Given the description of an element on the screen output the (x, y) to click on. 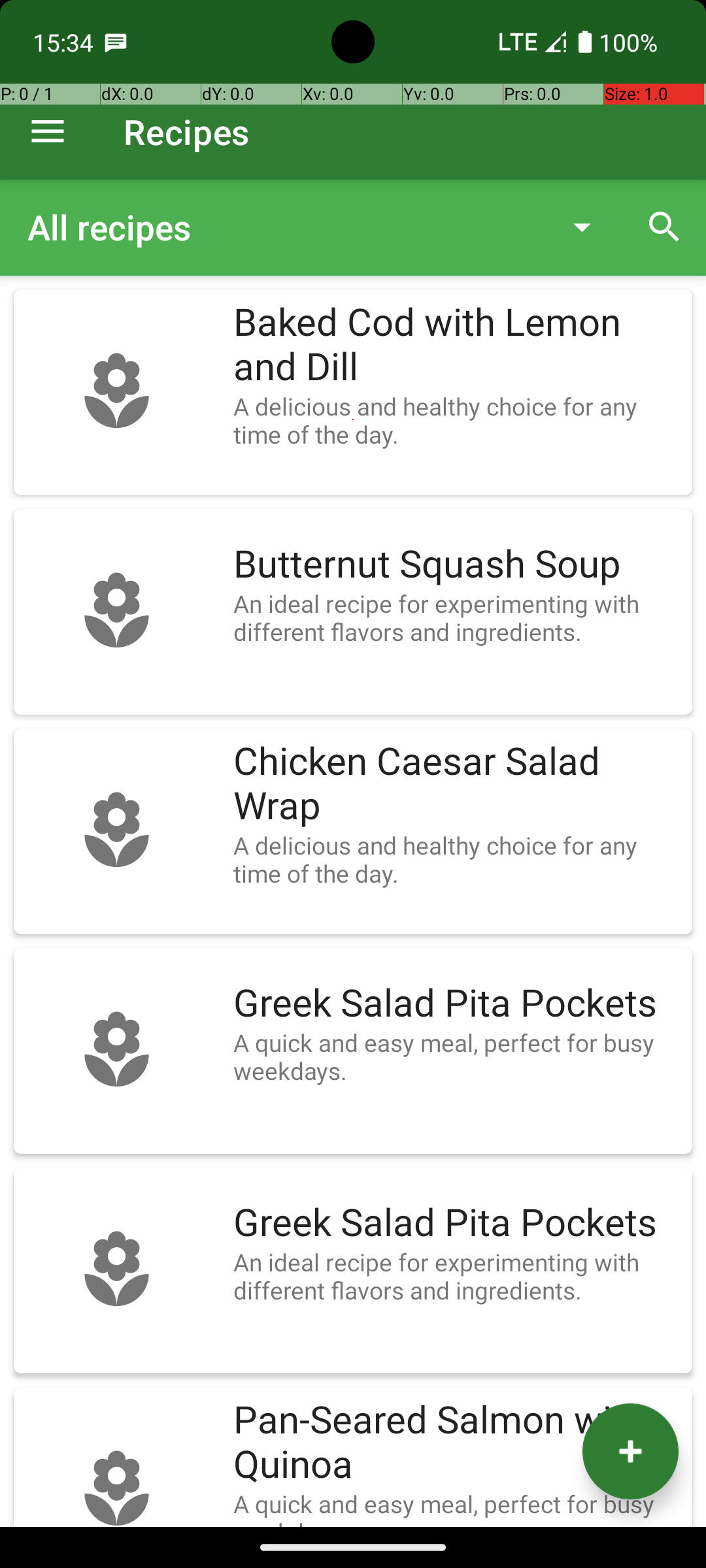
Pan-Seared Salmon with Quinoa Element type: android.widget.TextView (455, 1442)
